Given the description of an element on the screen output the (x, y) to click on. 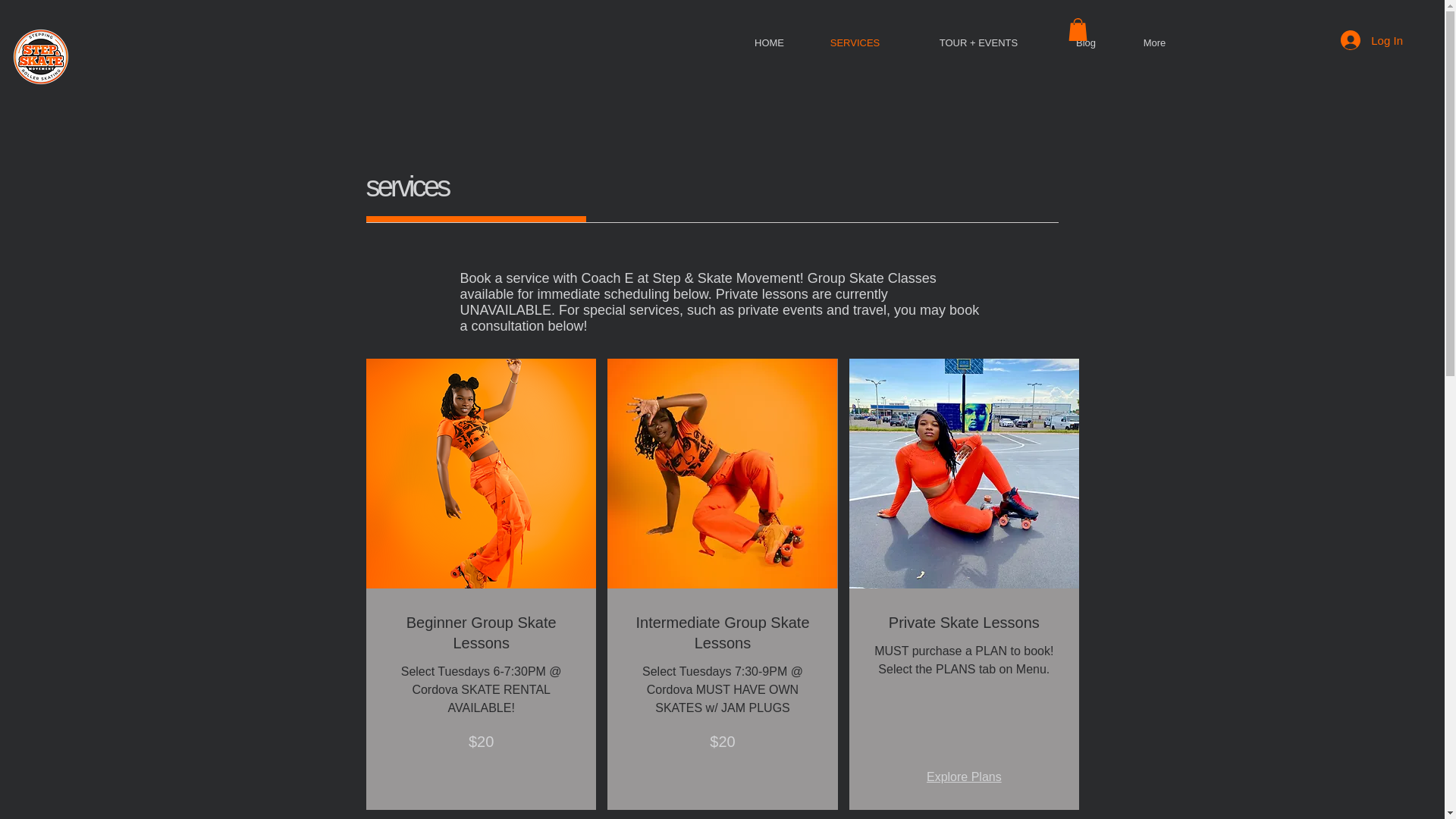
HOME (769, 43)
Intermediate Group Skate Lessons (721, 632)
Blog (1085, 43)
Beginner Group Skate Lessons (480, 632)
Private Skate Lessons (963, 622)
Log In (1371, 39)
SERVICES (855, 43)
Explore Plans (963, 776)
